Given the description of an element on the screen output the (x, y) to click on. 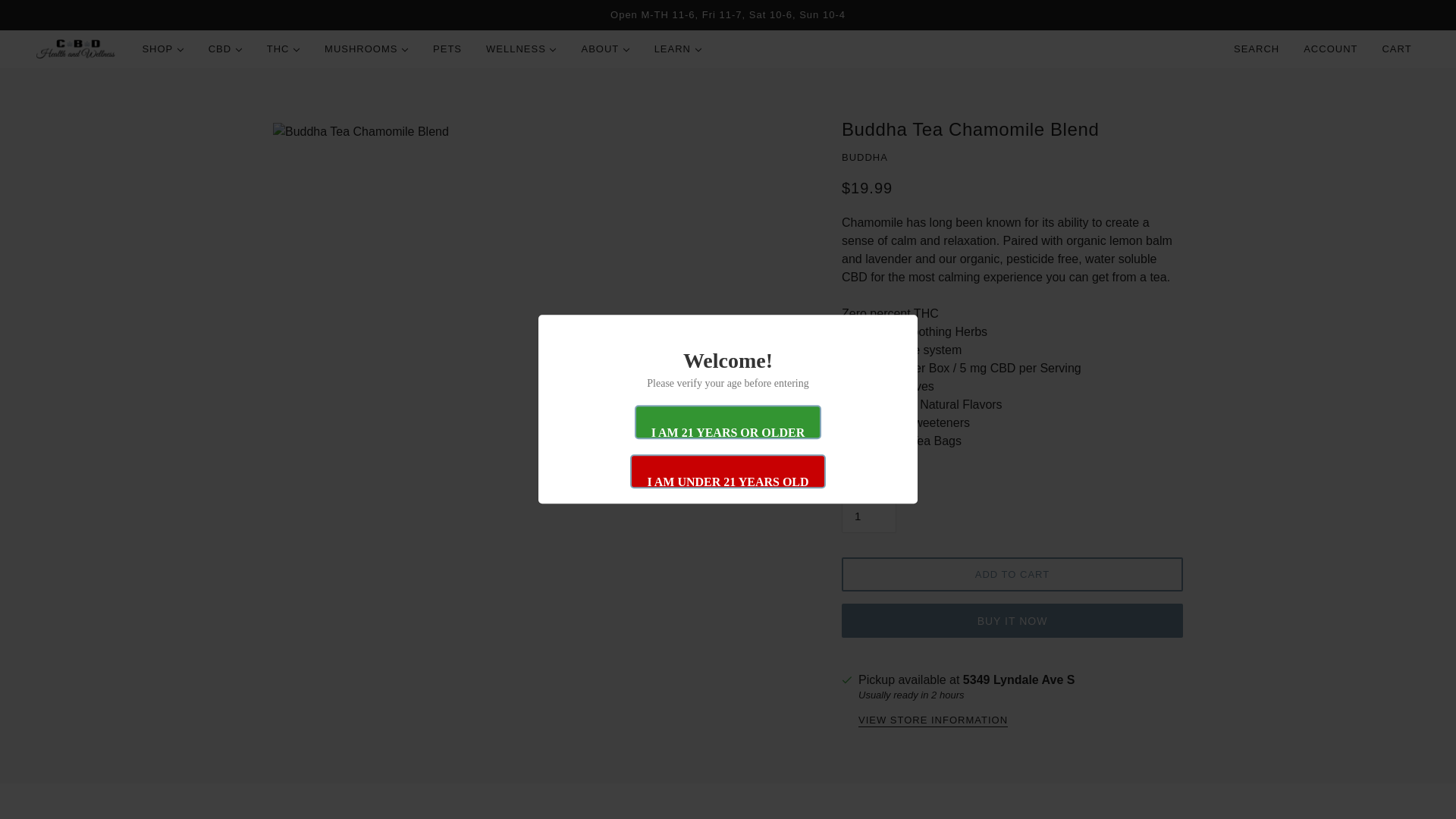
CBD (225, 48)
ABOUT (605, 48)
WELLNESS (521, 48)
SHOP (162, 48)
MUSHROOMS (366, 48)
HW Lounge (75, 48)
THC (283, 48)
PETS (447, 48)
LEARN (678, 48)
1 (868, 515)
